Given the description of an element on the screen output the (x, y) to click on. 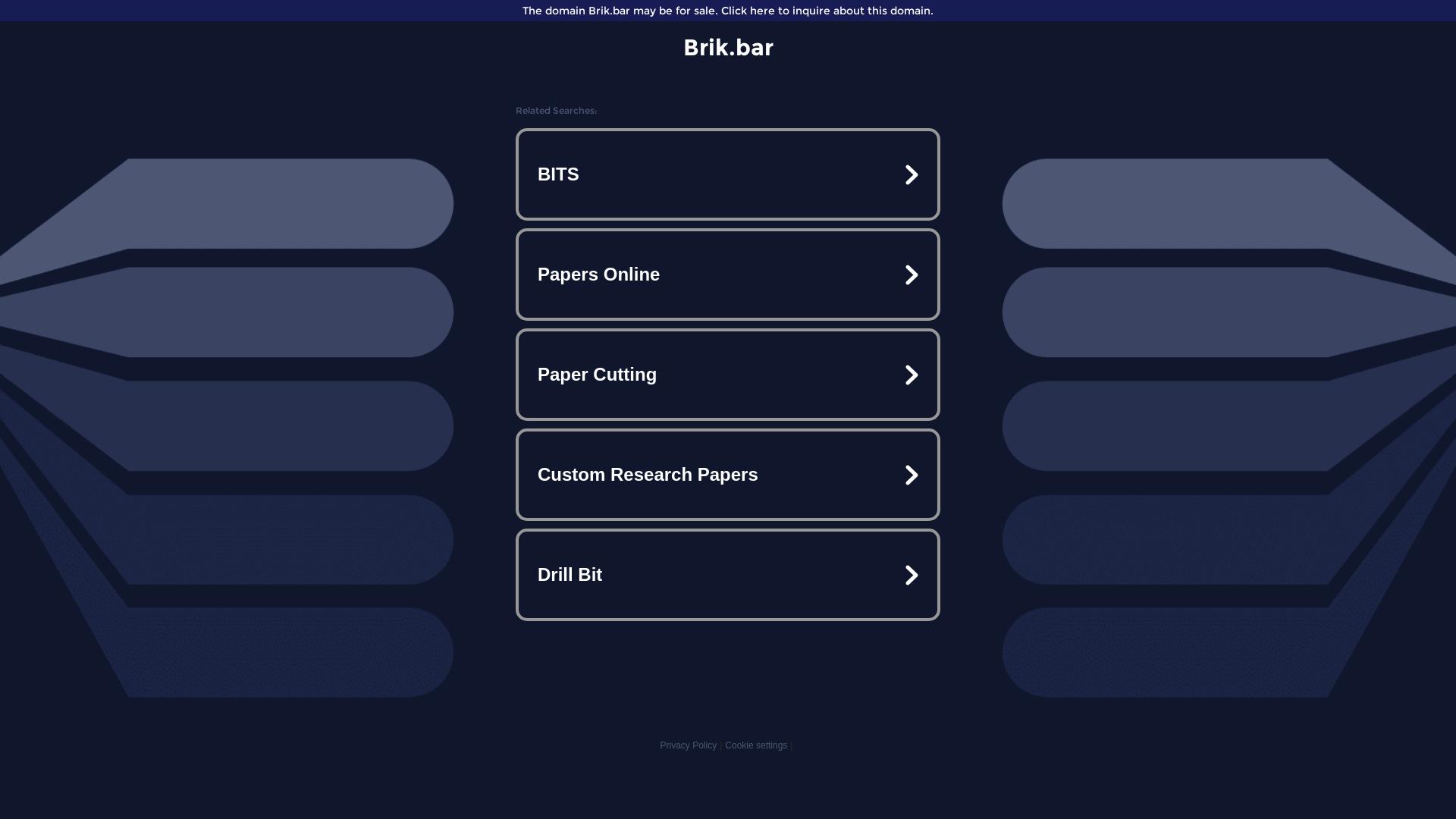
BITS Element type: text (727, 174)
Privacy Policy Element type: text (687, 745)
Brik.bar Element type: text (727, 47)
Cookie settings Element type: text (755, 745)
Papers Online Element type: text (727, 274)
Drill Bit Element type: text (727, 574)
Paper Cutting Element type: text (727, 374)
Custom Research Papers Element type: text (727, 474)
